Given the description of an element on the screen output the (x, y) to click on. 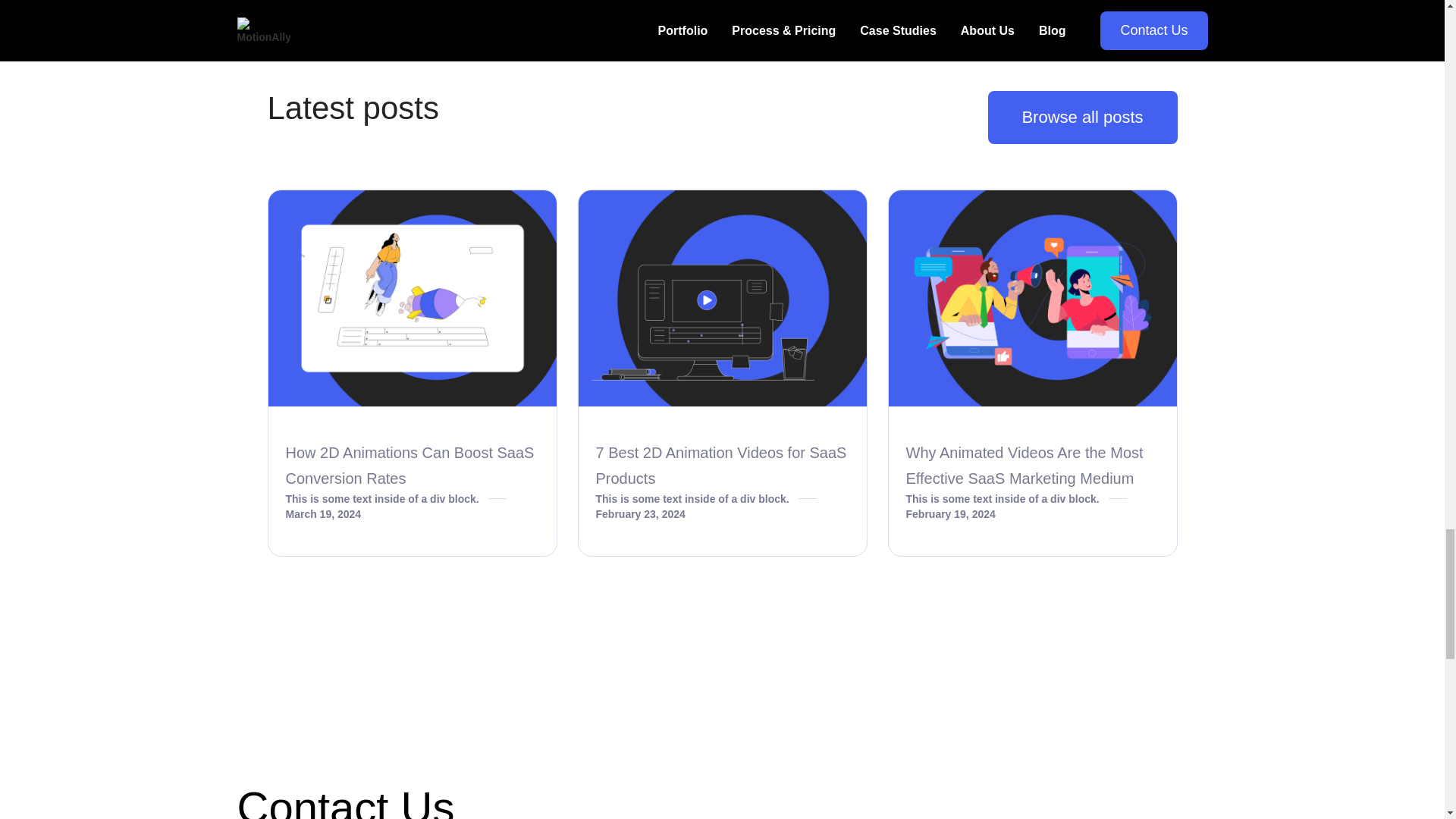
Browse all posts (1081, 117)
